Given the description of an element on the screen output the (x, y) to click on. 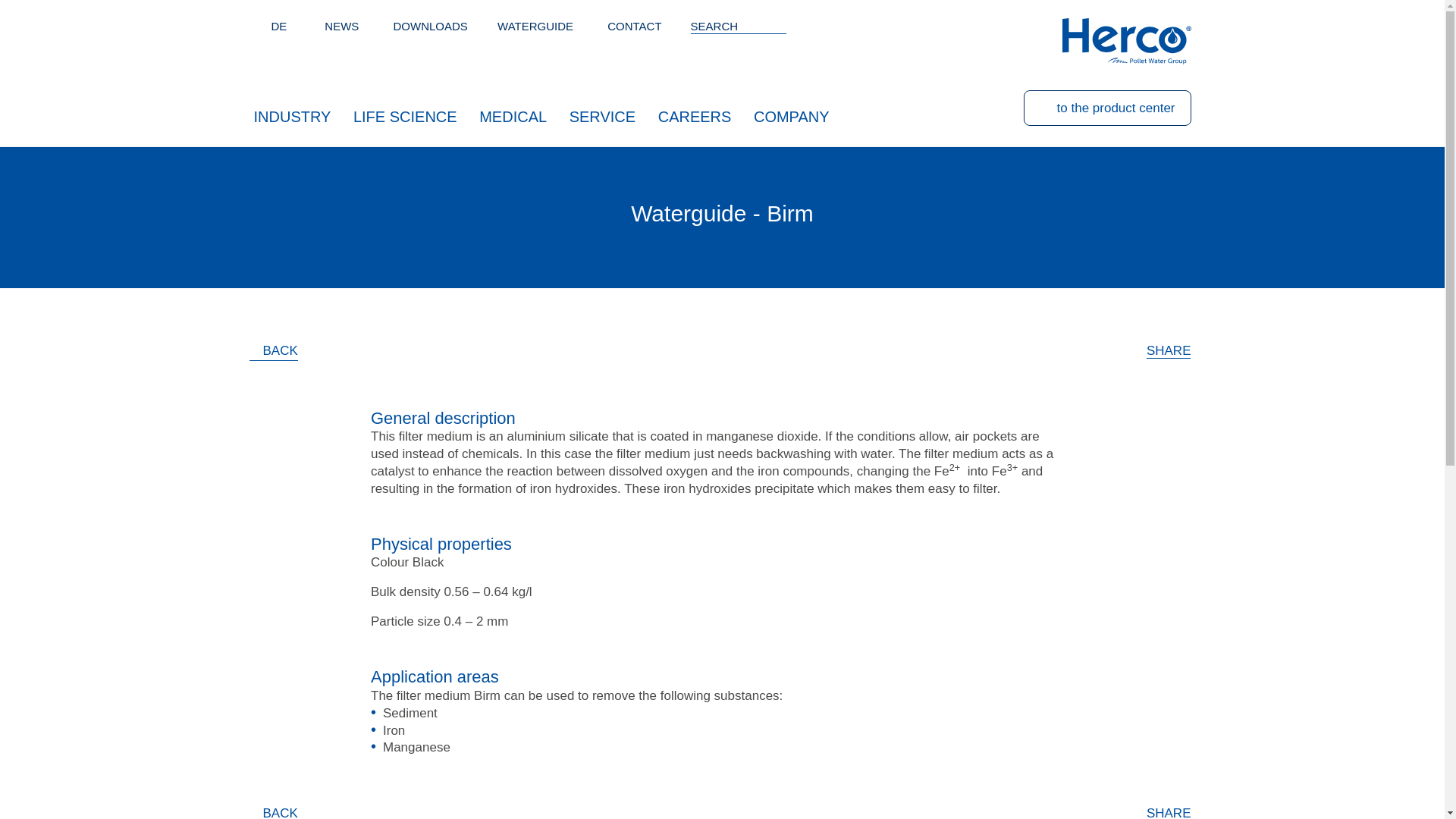
CAREERS (695, 115)
BACK (272, 352)
MEDICAL (513, 115)
DOWNLOADS (430, 25)
NEWS (341, 25)
SERVICE (601, 115)
INDUSTRY (291, 115)
SHARE (1169, 350)
DE (278, 25)
Birm (278, 25)
LIFE SCIENCE (405, 115)
COMPANY (791, 115)
to the product center (1106, 107)
WATERGUIDE (535, 25)
